Given the description of an element on the screen output the (x, y) to click on. 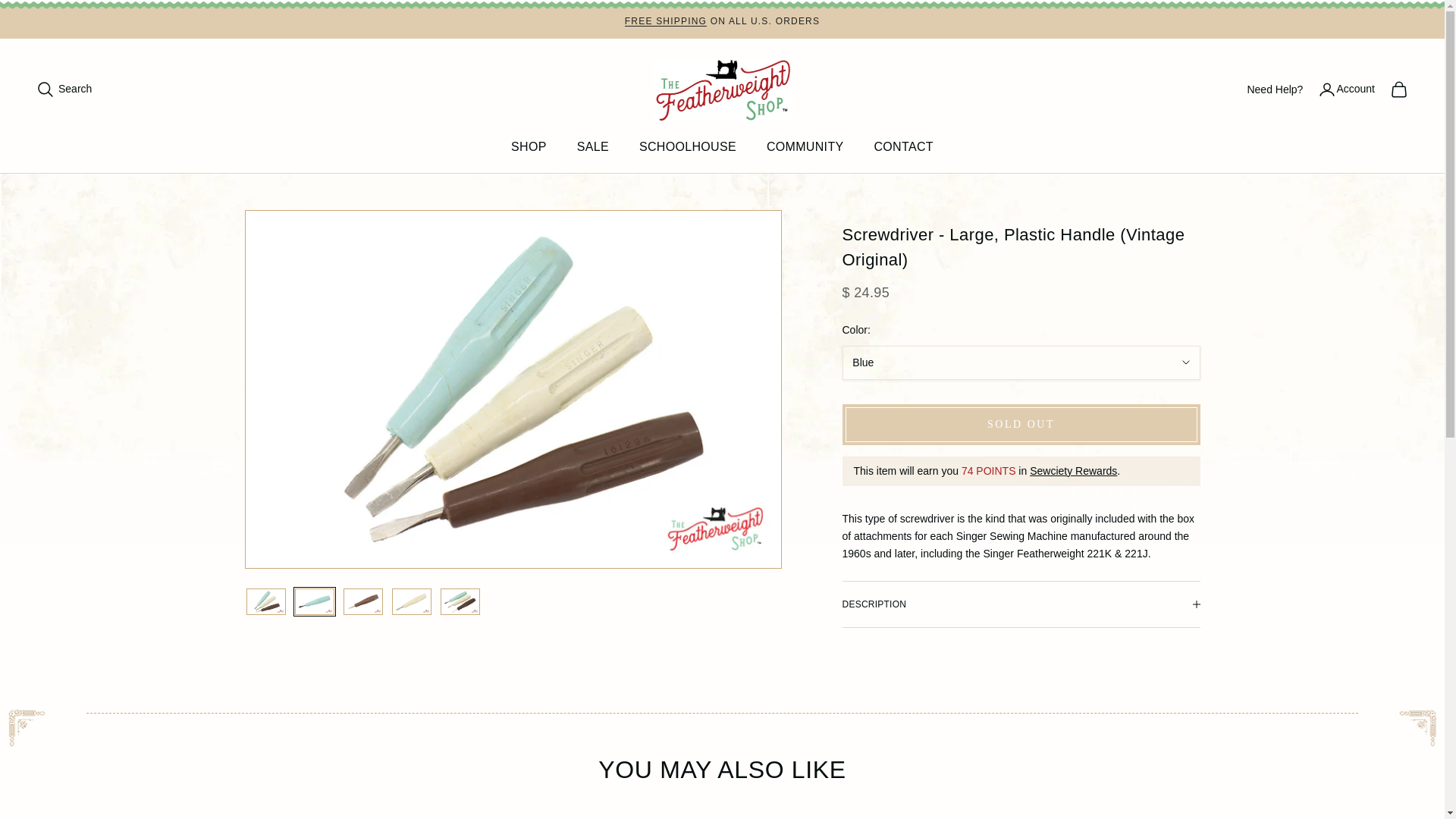
Shipping, Returns, Policies, etc. (665, 20)
FREE SHIPPING (665, 20)
The Singer Featherweight Shop (721, 89)
